Given the description of an element on the screen output the (x, y) to click on. 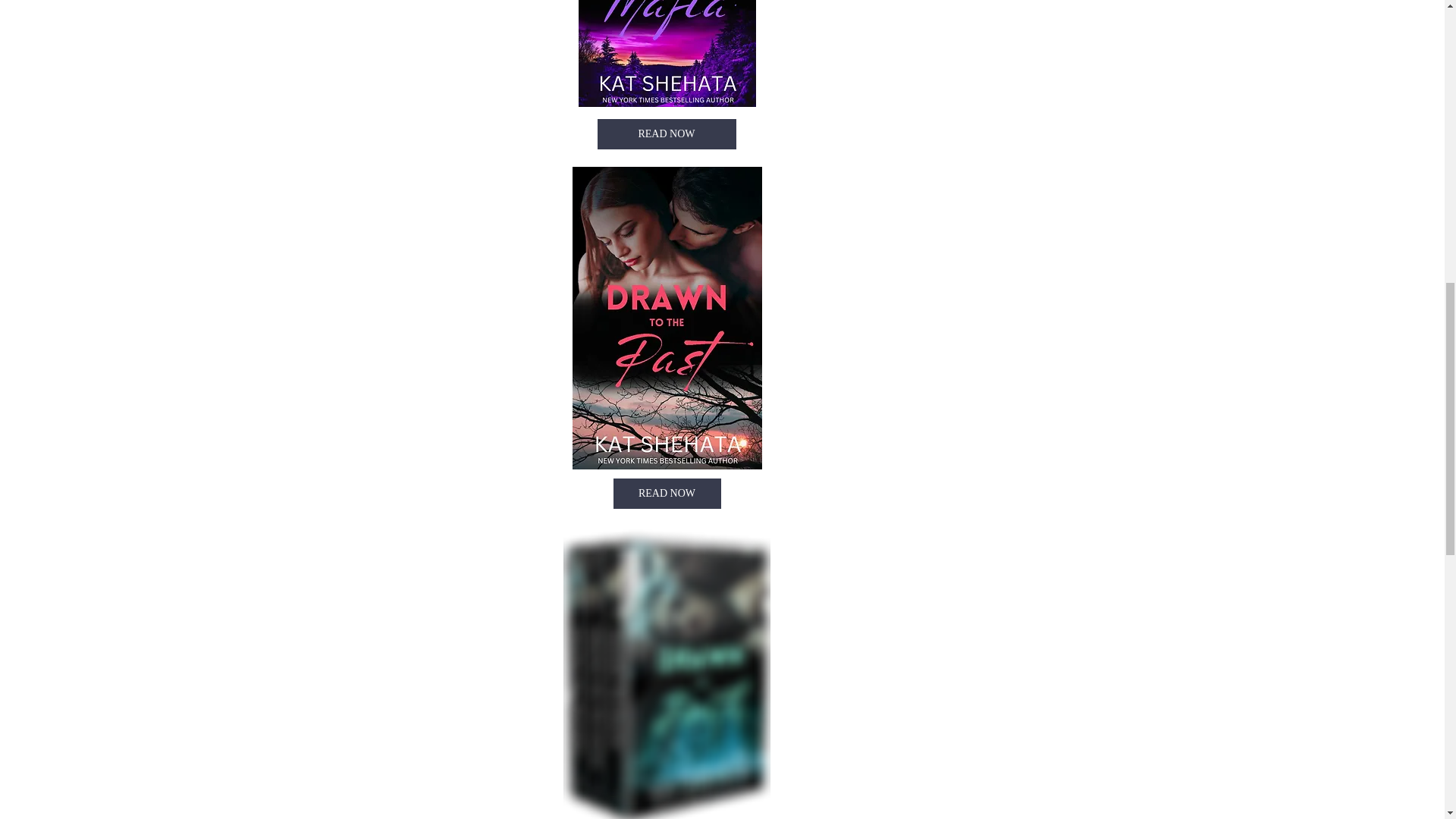
2023-0170 Kat Shehata b02 large.jpg (666, 53)
READ NOW (666, 493)
READ NOW (666, 133)
